Given the description of an element on the screen output the (x, y) to click on. 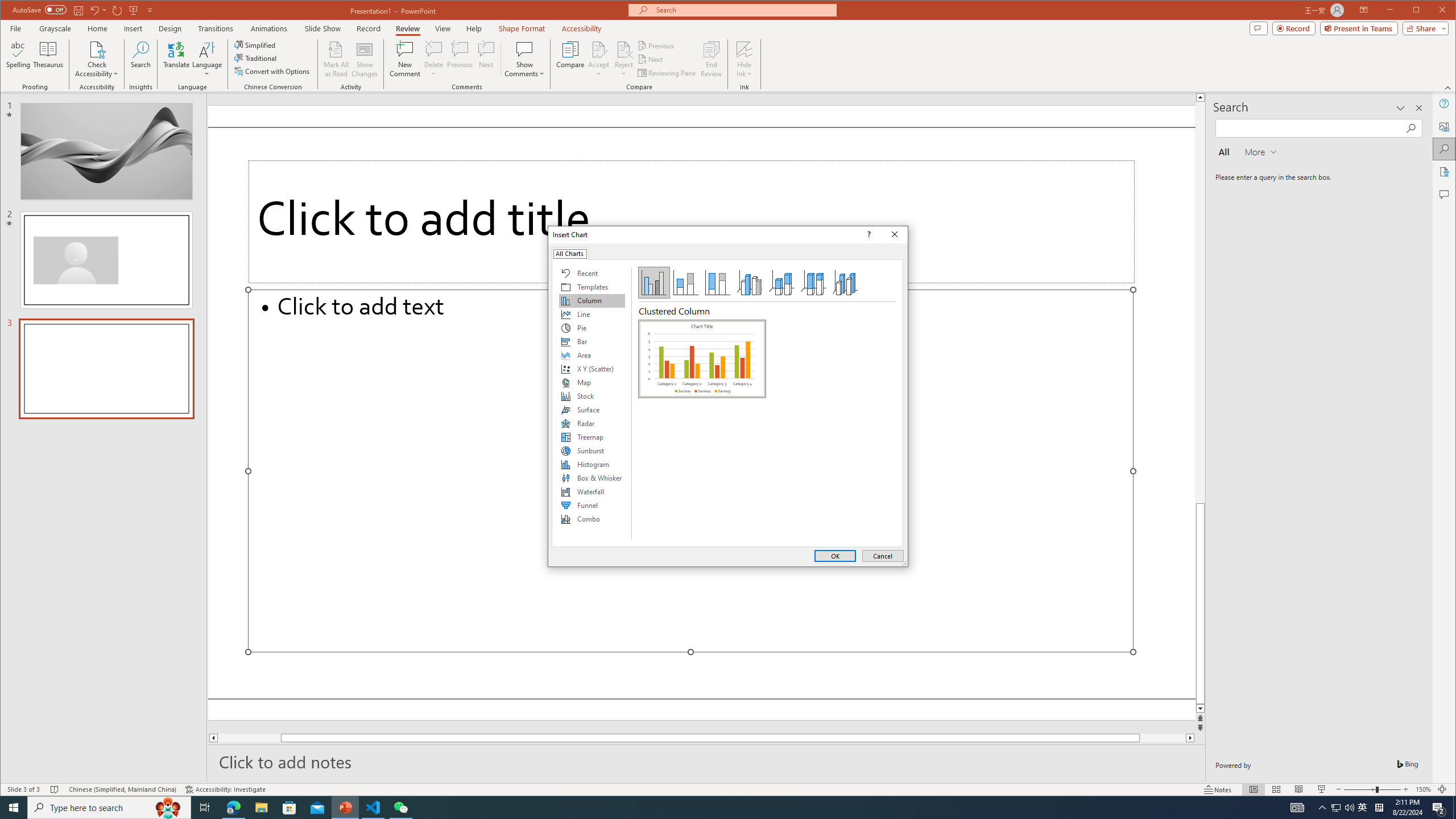
Stock (591, 395)
X Y (Scatter) (591, 368)
Reviewing Pane (667, 72)
Box & Whisker (591, 477)
Radar (591, 423)
Clustered Column (701, 358)
